Given the description of an element on the screen output the (x, y) to click on. 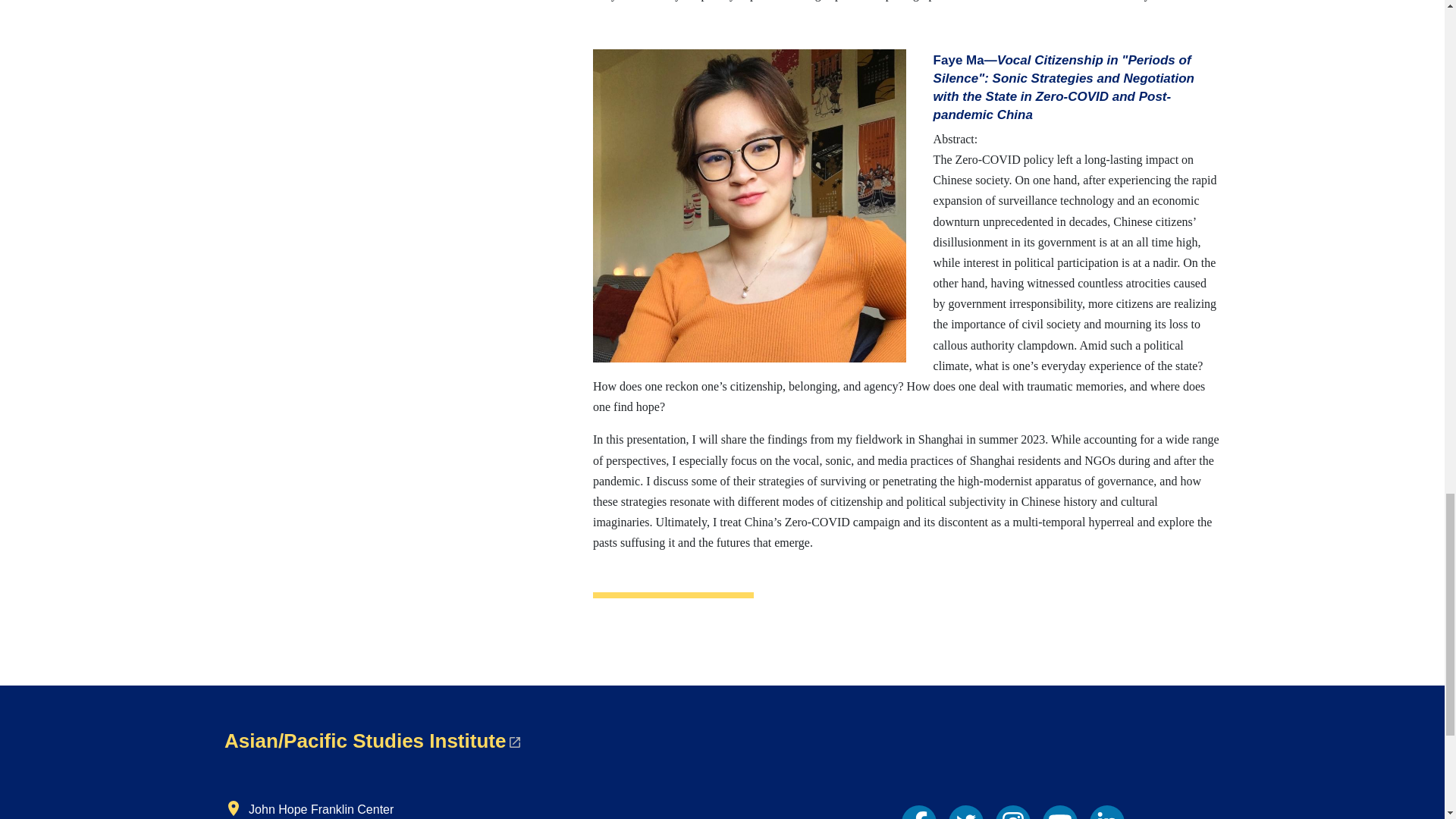
Twitter link (966, 812)
LinkedIn link (1106, 812)
Instagram link (1012, 812)
YouTube link (1059, 812)
Facebook link (918, 812)
